Given the description of an element on the screen output the (x, y) to click on. 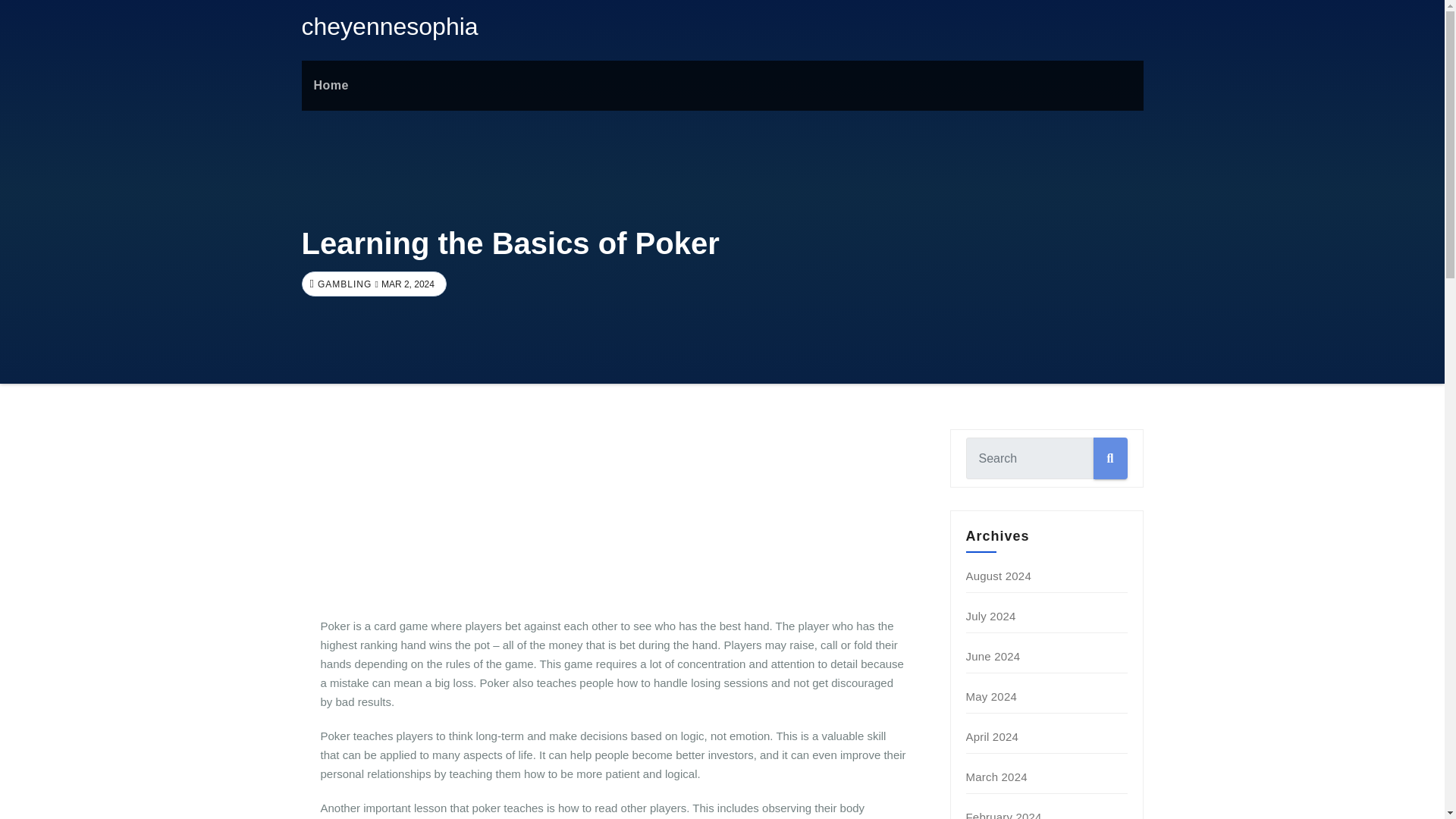
Home (331, 85)
Home (331, 85)
GAMBLING (342, 284)
July 2024 (991, 615)
May 2024 (991, 696)
March 2024 (996, 776)
February 2024 (1004, 814)
April 2024 (992, 736)
cheyennesophia (390, 26)
August 2024 (998, 575)
